Given the description of an element on the screen output the (x, y) to click on. 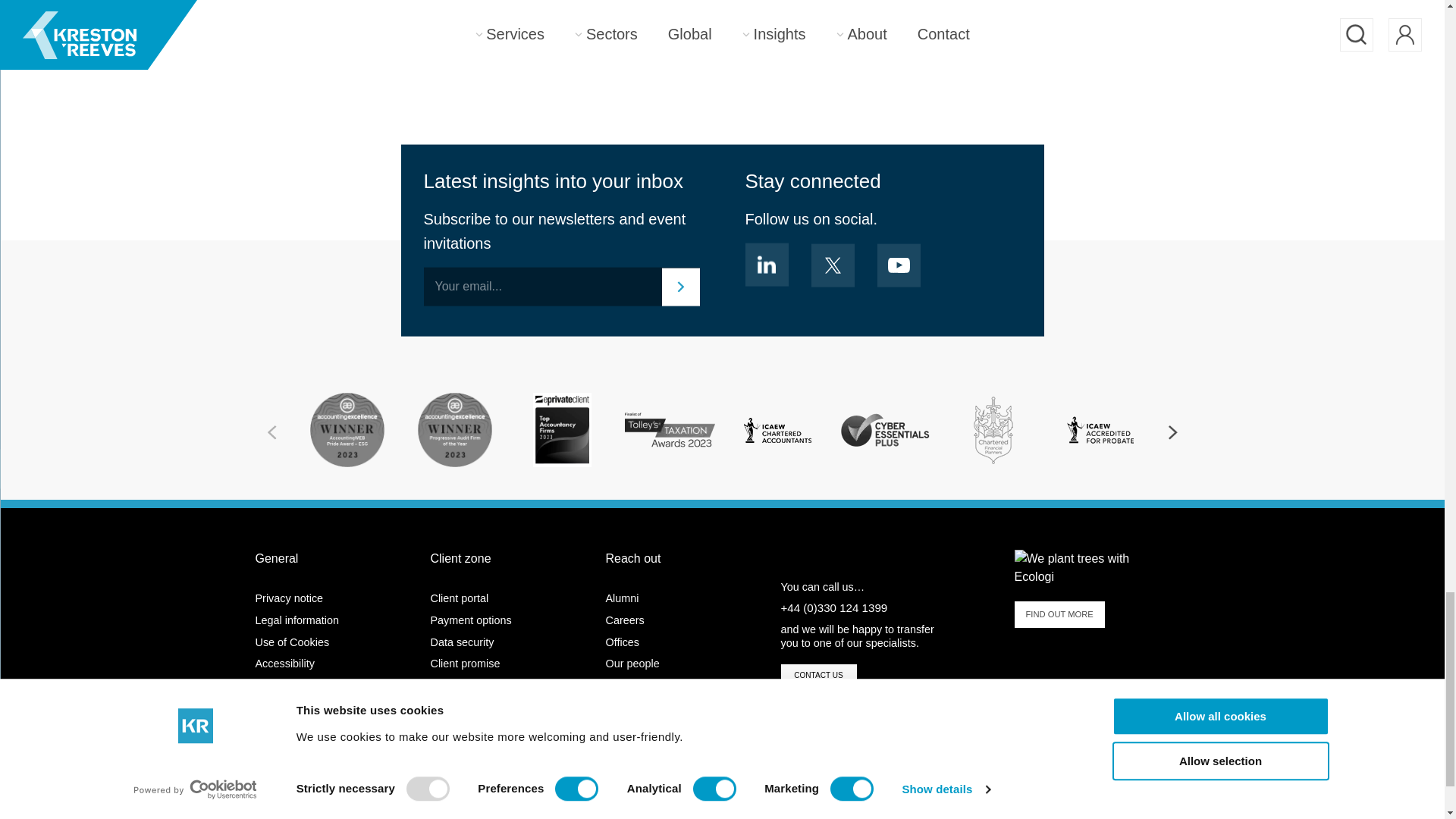
View our Ecologi profile (1092, 567)
